Given the description of an element on the screen output the (x, y) to click on. 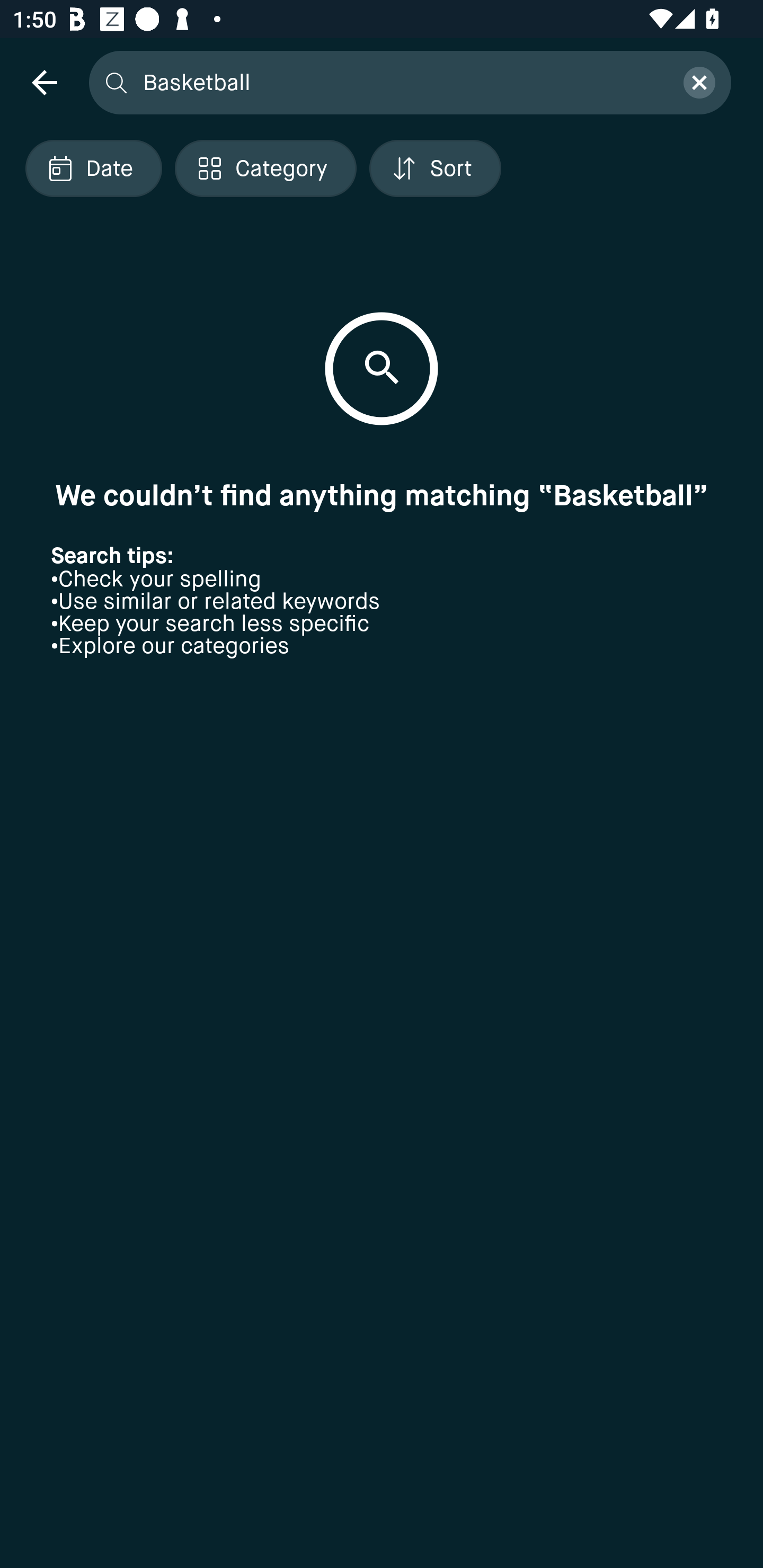
navigation icon (44, 81)
Basketball (402, 81)
Localized description Date (93, 168)
Localized description Category (265, 168)
Localized description Sort (435, 168)
We couldn’t find anything matching “Basketball” (381, 495)
